Given the description of an element on the screen output the (x, y) to click on. 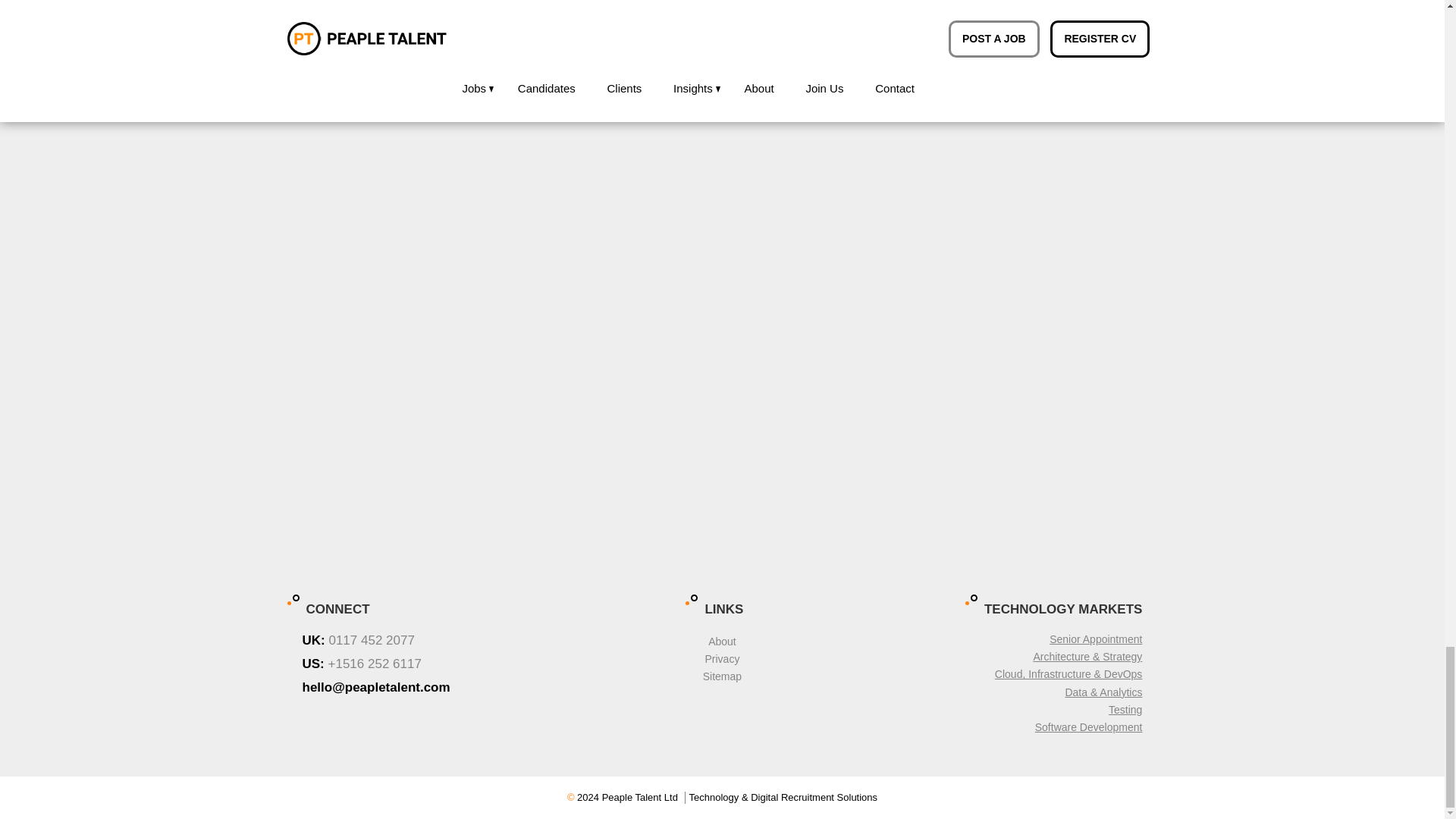
Call our US office now (431, 664)
Email our team (431, 688)
Call our UK office now (431, 641)
